Given the description of an element on the screen output the (x, y) to click on. 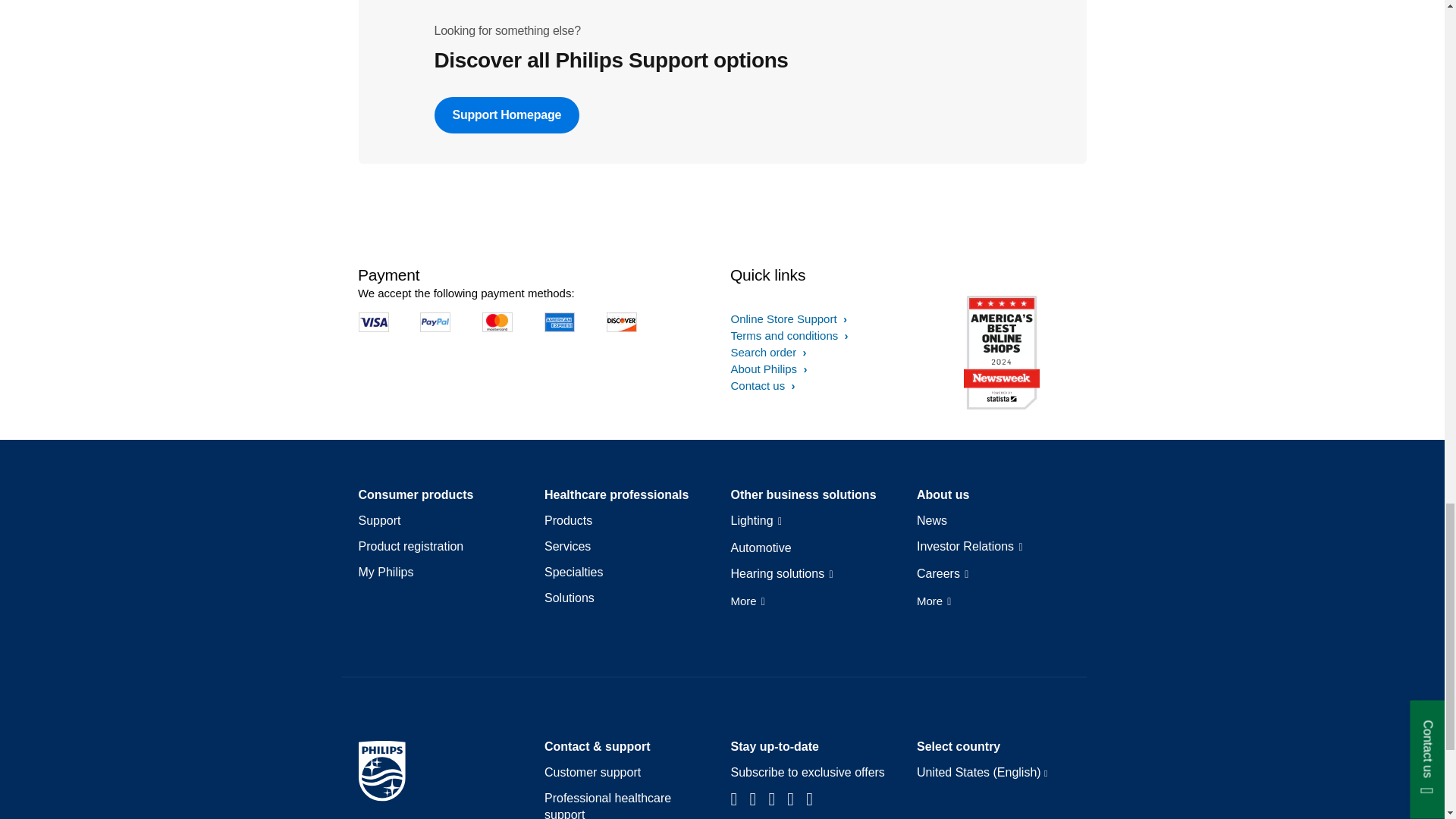
Product registration (410, 546)
Healthcare professionals (616, 494)
Consumer products (415, 494)
My Philips (385, 572)
Support (379, 520)
